Given the description of an element on the screen output the (x, y) to click on. 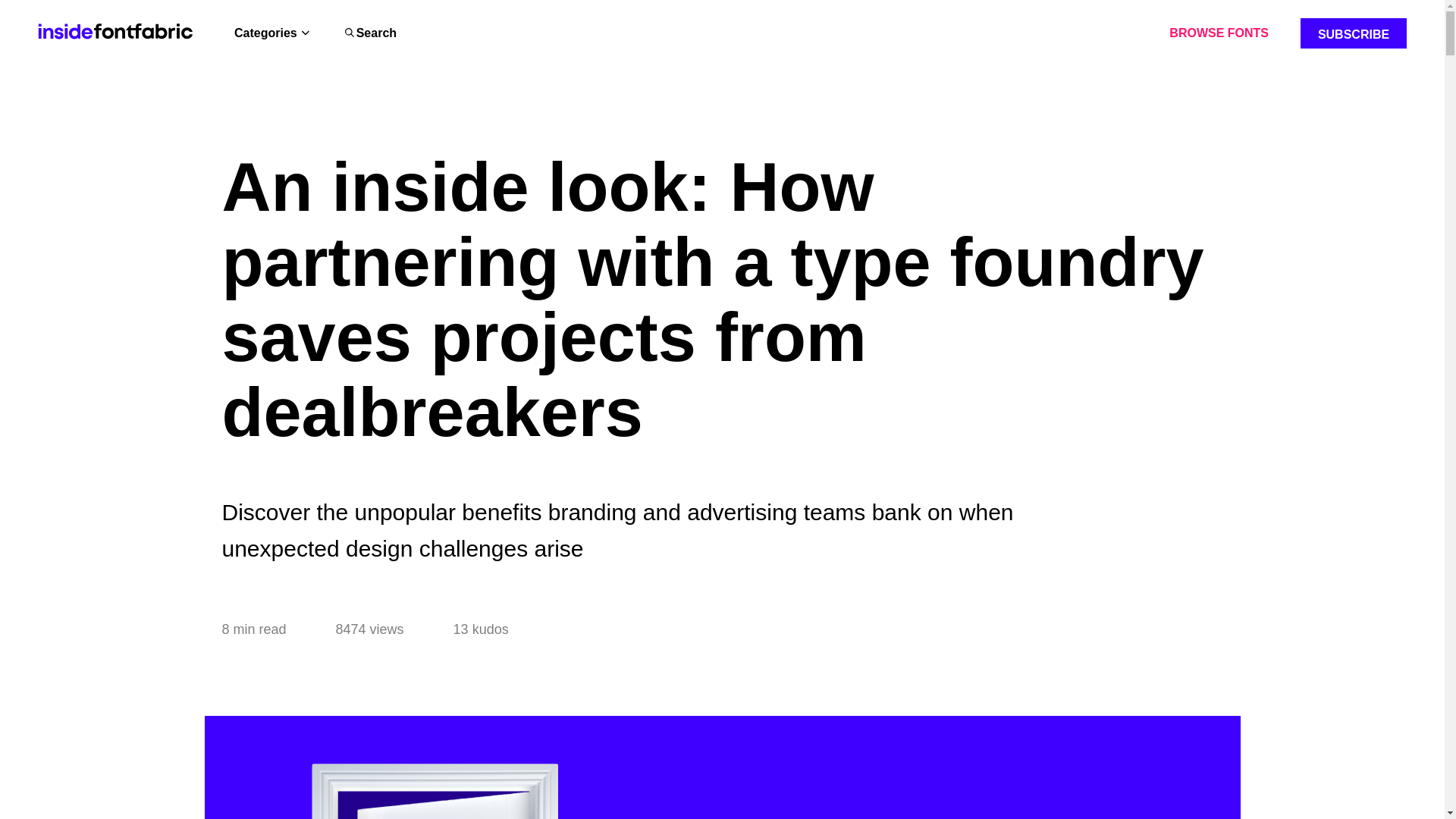
Categories (265, 33)
SUBSCRIBE (1353, 33)
BROWSE FONTS (1218, 33)
